Given the description of an element on the screen output the (x, y) to click on. 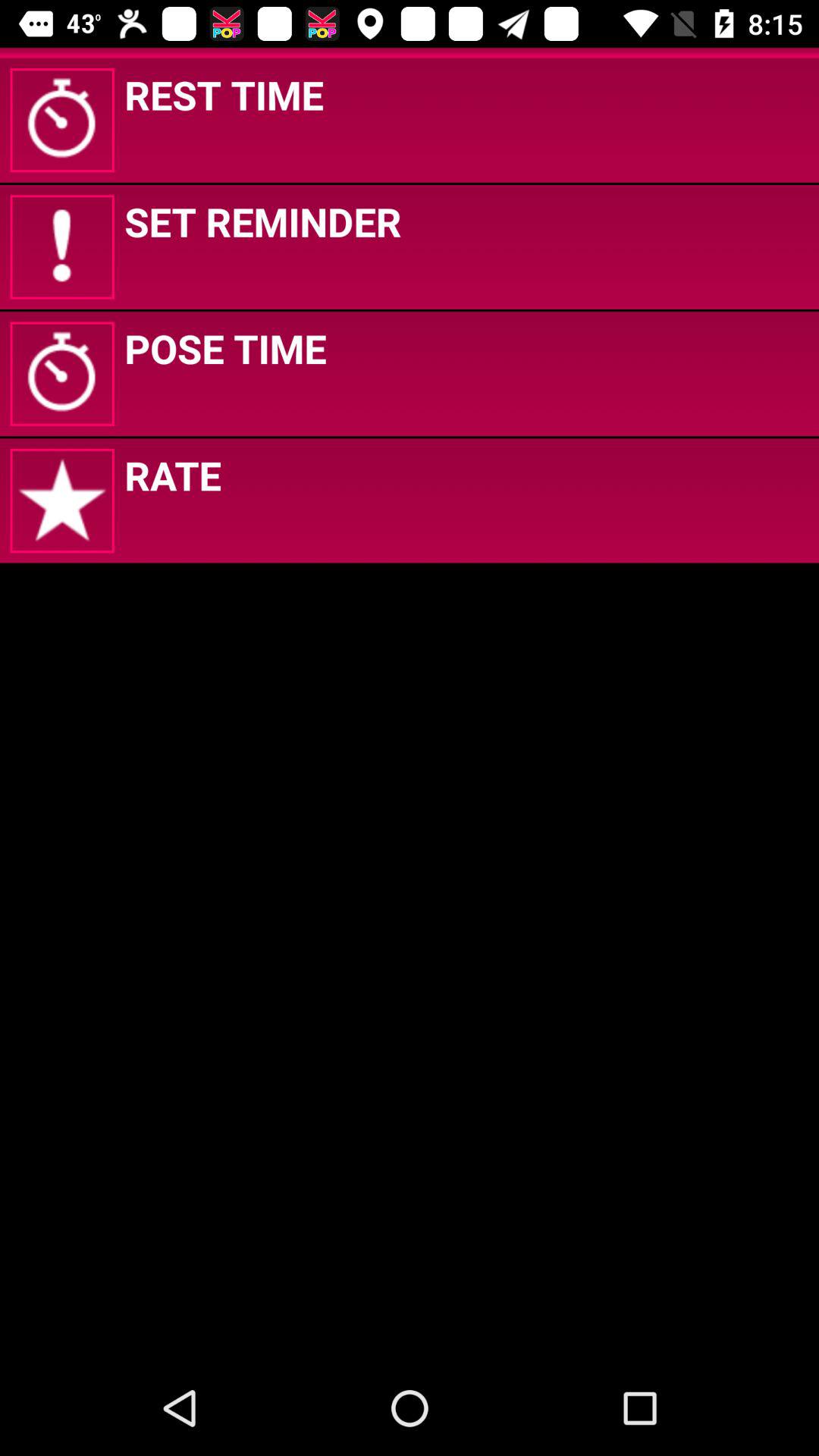
scroll to the pose time item (225, 347)
